Given the description of an element on the screen output the (x, y) to click on. 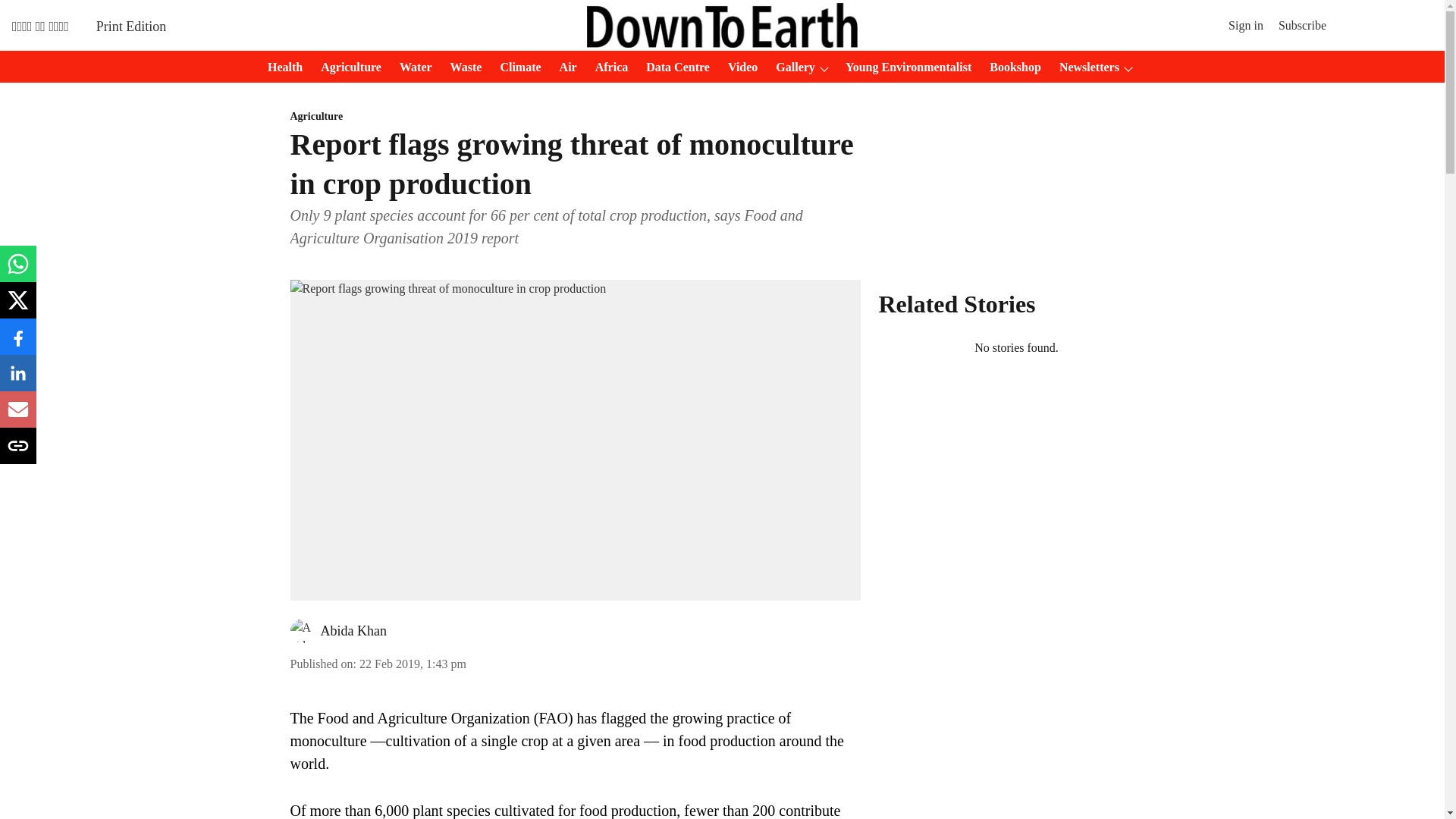
Print Edition (131, 26)
Waste (461, 67)
Bookshop (1010, 67)
Africa (607, 67)
Water (411, 67)
Data Centre (673, 67)
Abida Khan (352, 630)
Health (280, 67)
Agriculture (574, 116)
Agriculture (346, 67)
